Given the description of an element on the screen output the (x, y) to click on. 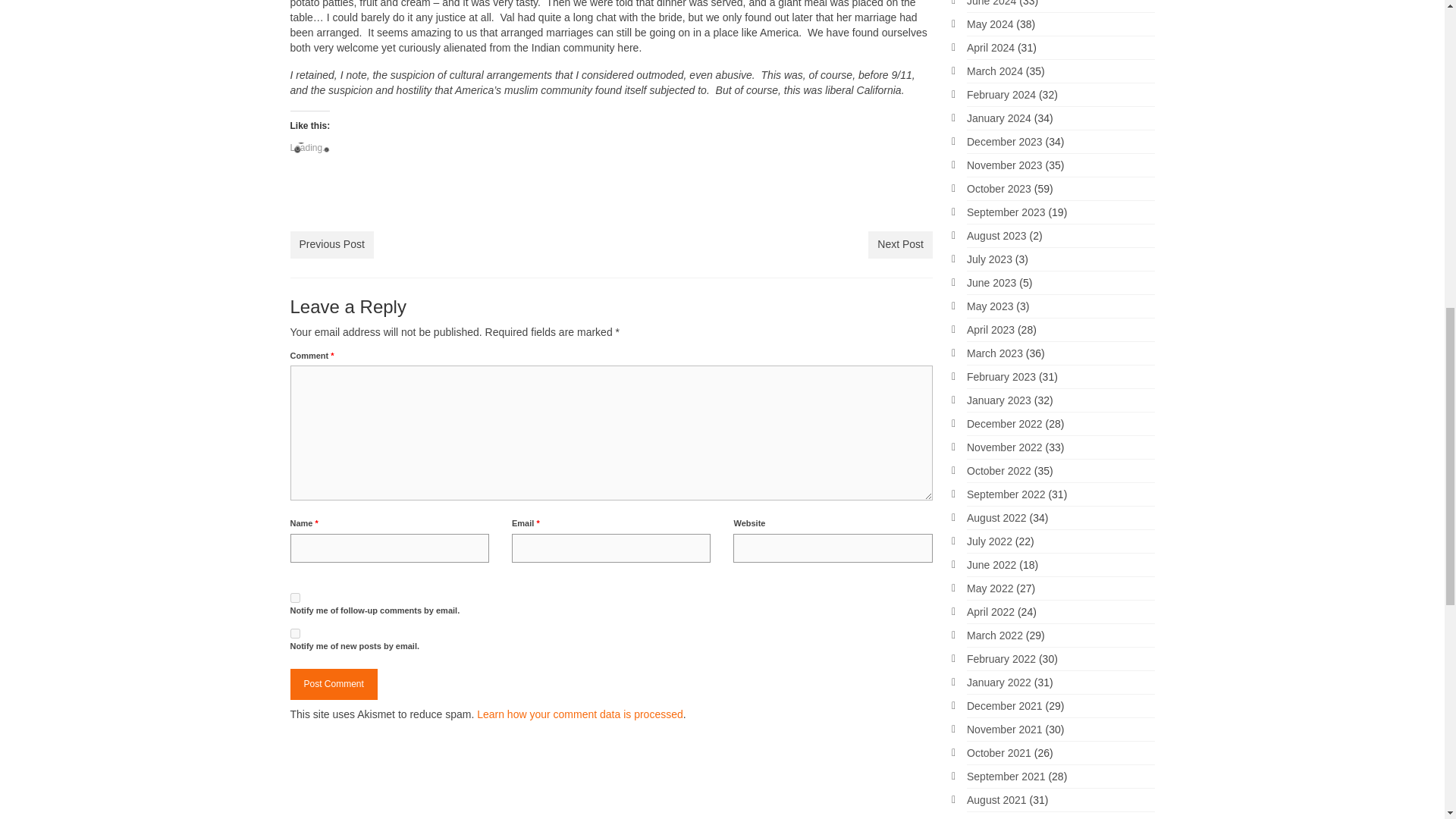
Post Comment (333, 684)
Learn how your comment data is processed (579, 714)
Previous Post (330, 244)
subscribe (294, 633)
Post Comment (333, 684)
Like or Reblog (611, 202)
subscribe (294, 597)
Next Post (900, 244)
